Given the description of an element on the screen output the (x, y) to click on. 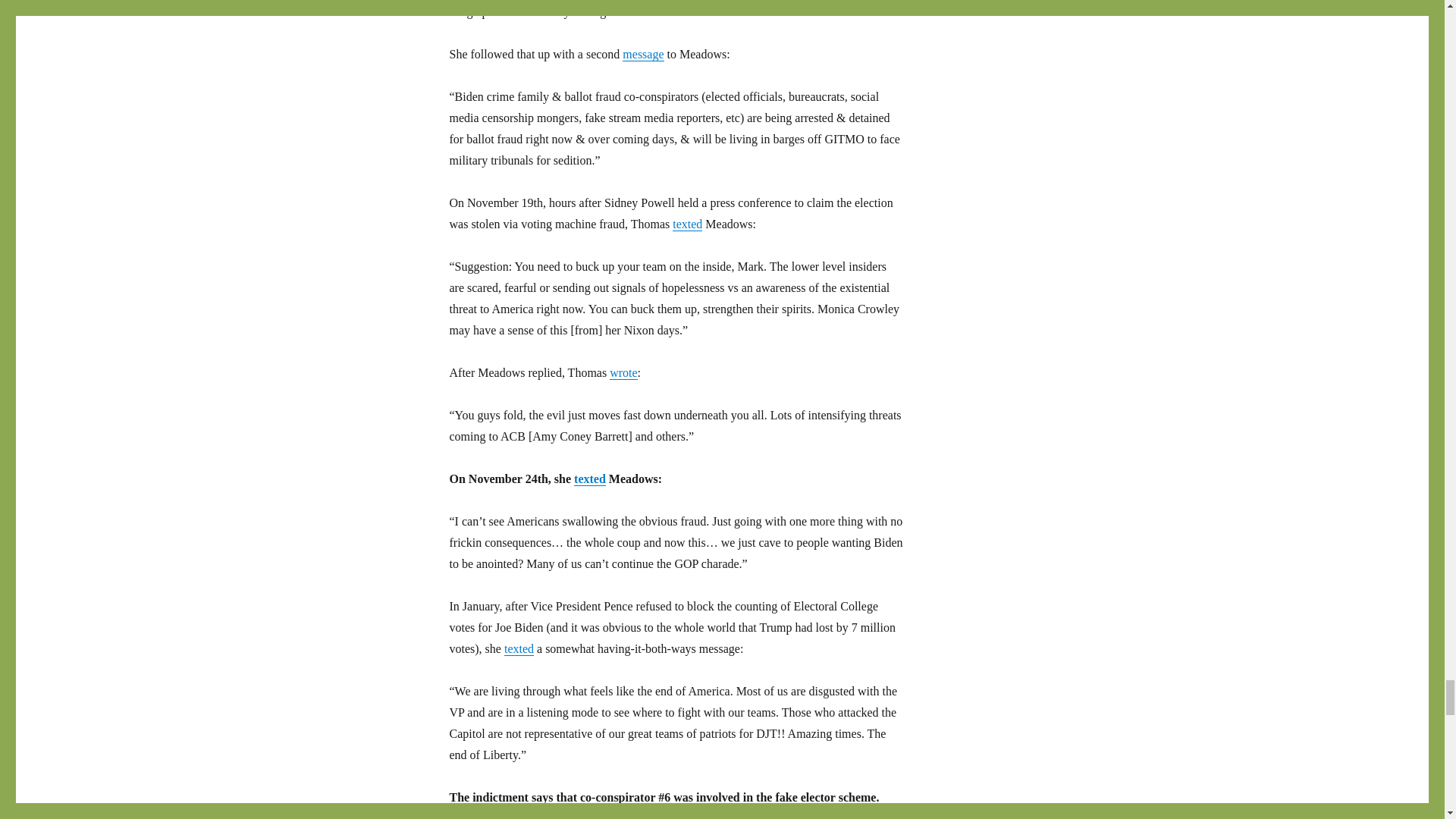
message (643, 53)
texted (518, 648)
texted (686, 223)
texted (589, 478)
wrote (623, 372)
